Given the description of an element on the screen output the (x, y) to click on. 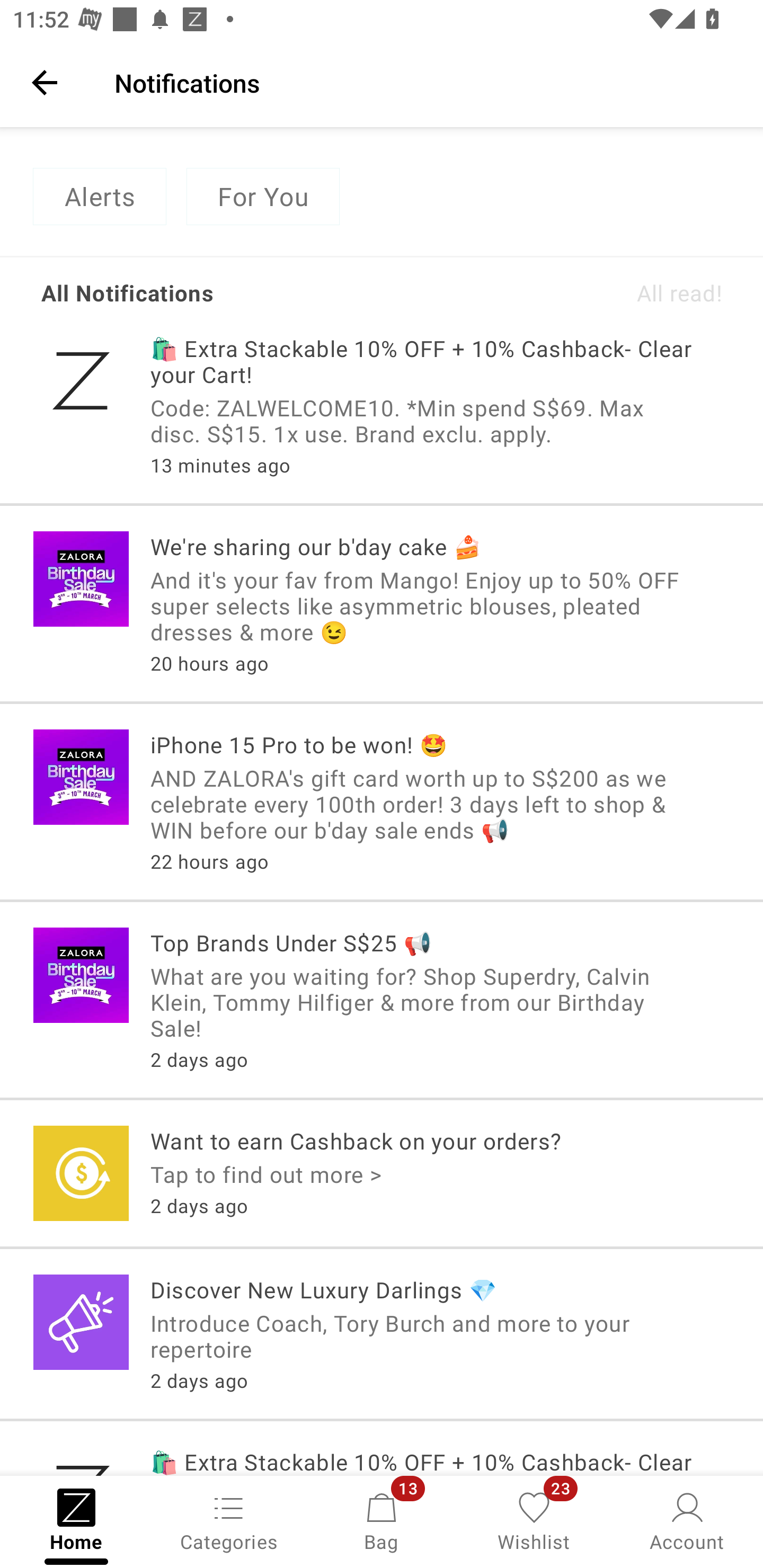
Navigate up (44, 82)
Notifications (426, 82)
Alerts (99, 196)
For You (262, 196)
Categories (228, 1519)
Bag, 13 new notifications Bag (381, 1519)
Wishlist, 23 new notifications Wishlist (533, 1519)
Account (686, 1519)
